Given the description of an element on the screen output the (x, y) to click on. 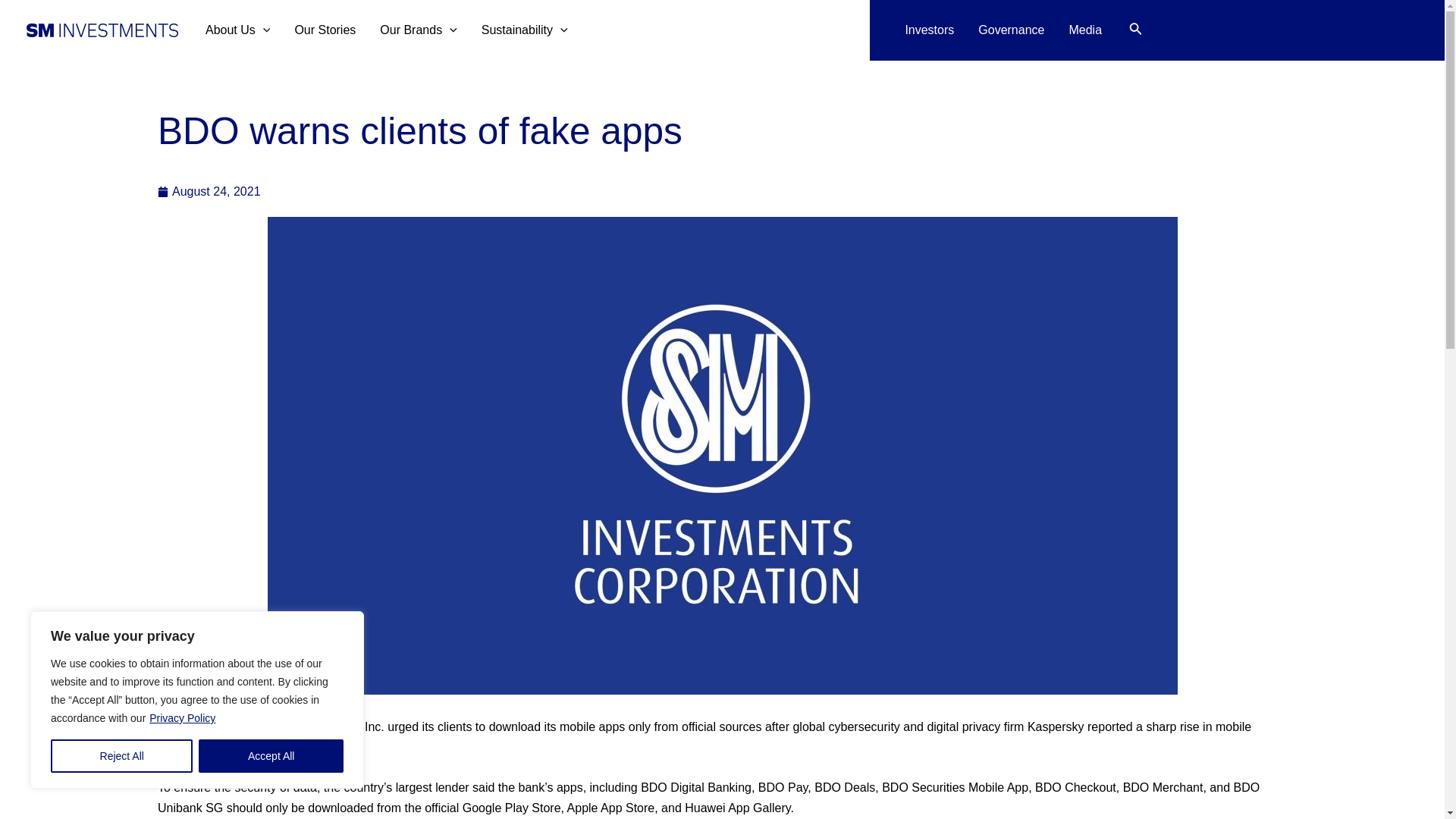
About Us (237, 30)
Reject All (121, 756)
Our Stories (325, 30)
Sustainability (523, 30)
Accept All (270, 756)
Privacy Policy (181, 717)
Our Brands (418, 30)
